Given the description of an element on the screen output the (x, y) to click on. 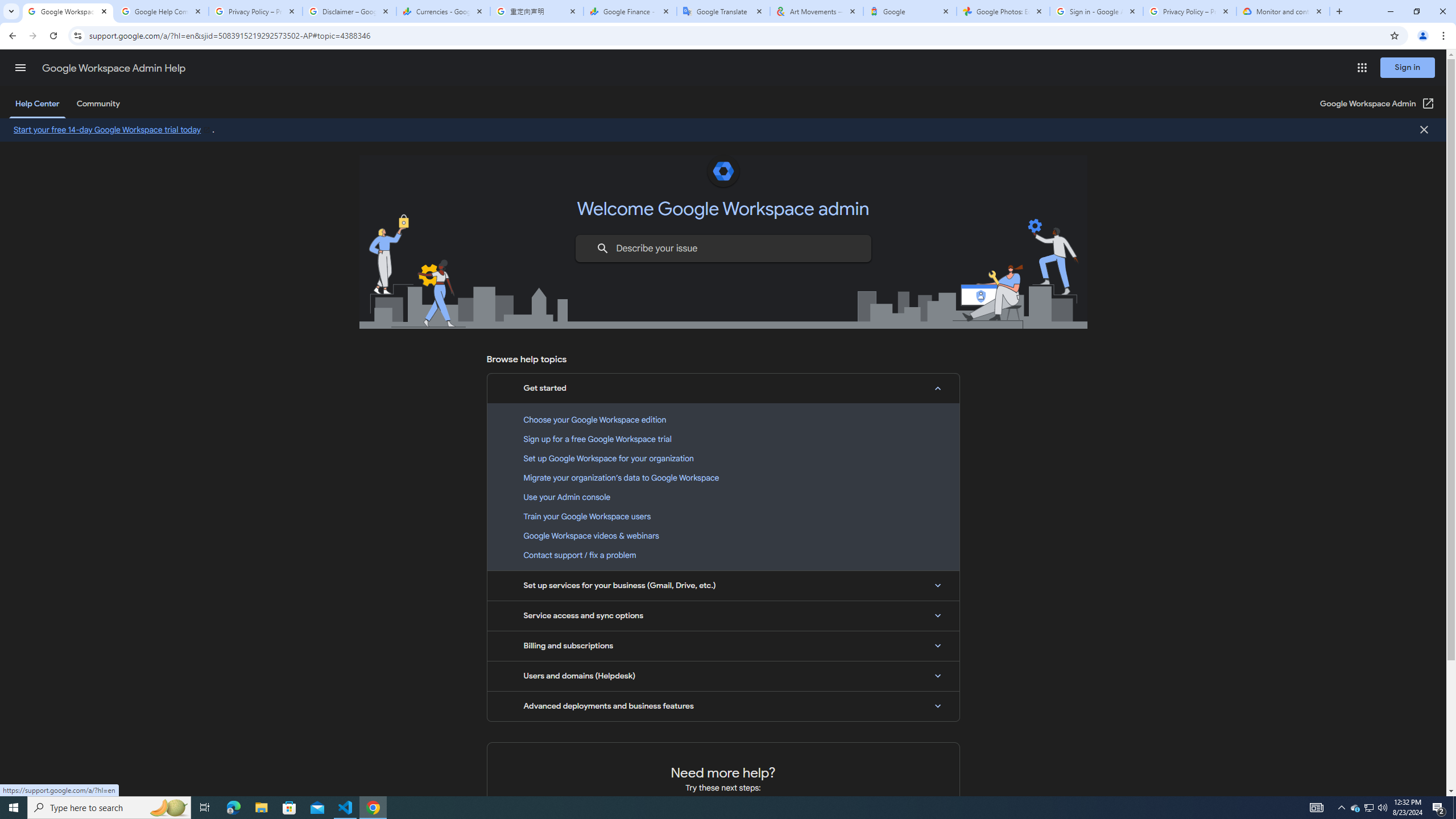
Google Workspace Admin Help (113, 68)
Set up services for your business (Gmail, Drive, etc.) (722, 585)
Sign in - Google Accounts (1096, 11)
Google Workspace Admin (Open in a new window) (1377, 103)
Train your Google Workspace users (722, 515)
Contact support / fix a problem (722, 555)
Google (909, 11)
